Given the description of an element on the screen output the (x, y) to click on. 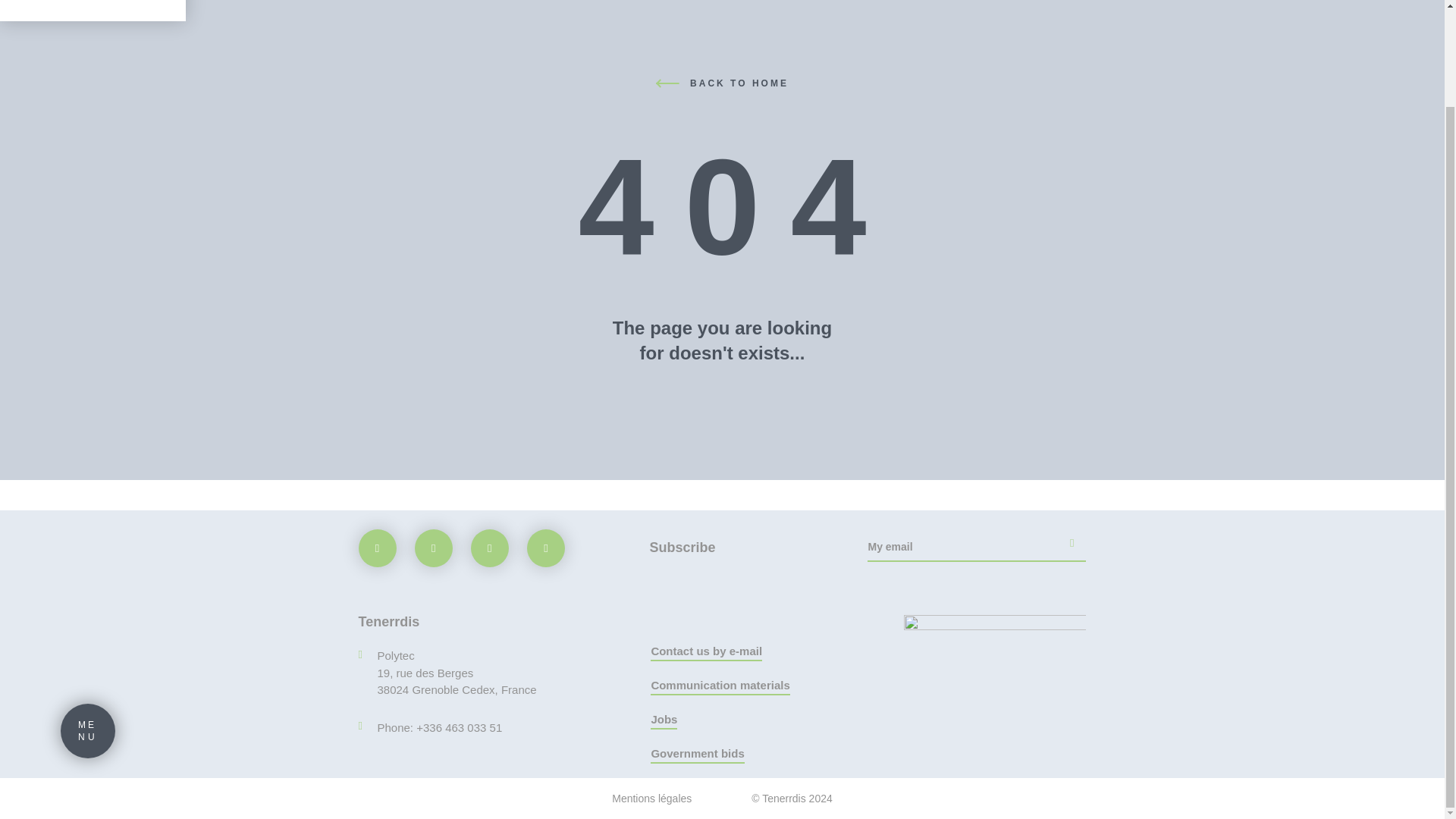
Youtube (545, 548)
Open main menu (88, 619)
Linkedin (489, 548)
My email (976, 550)
Twitter (88, 619)
Facebook (433, 548)
